Given the description of an element on the screen output the (x, y) to click on. 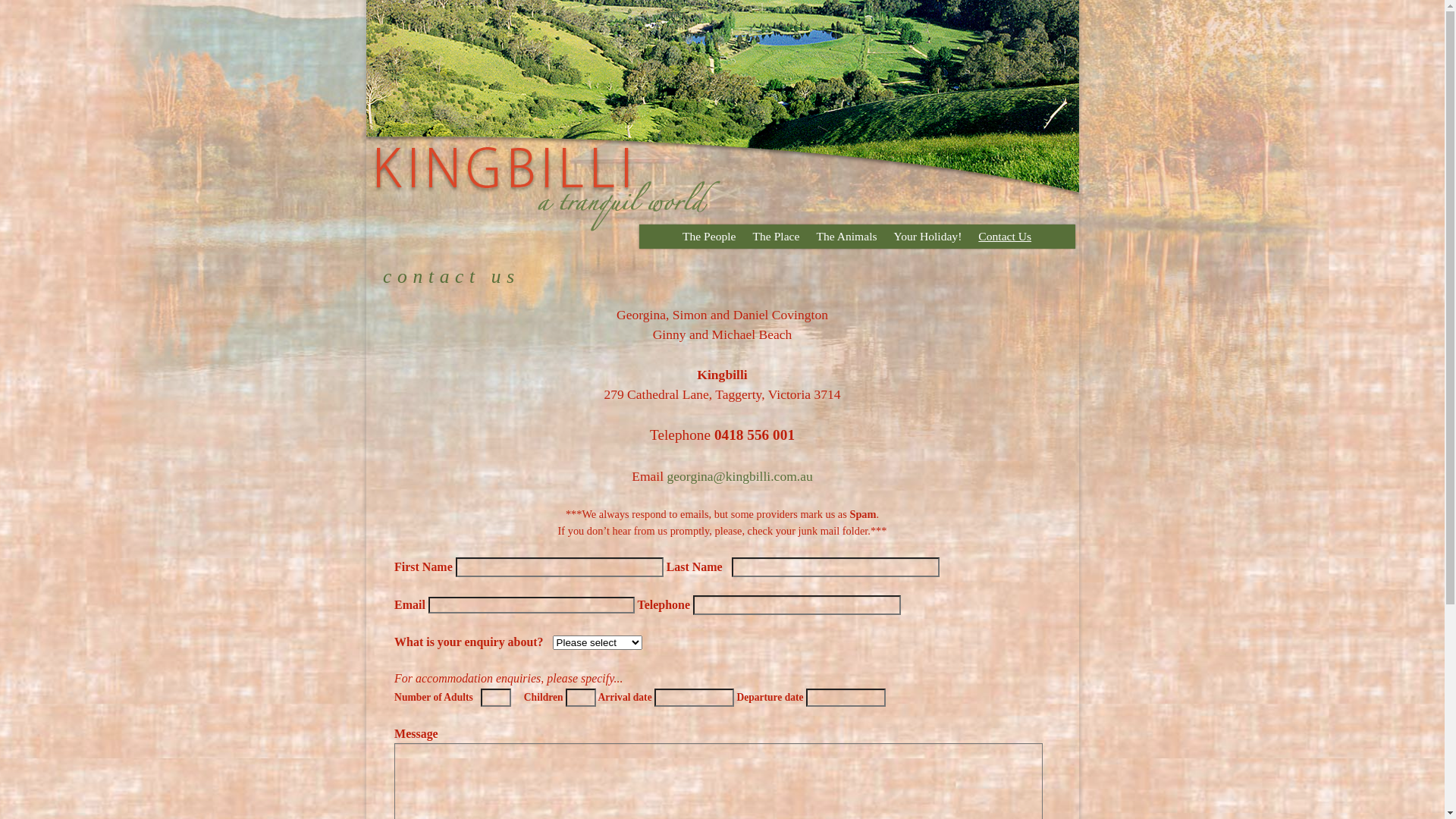
Contact Us Element type: text (1004, 236)
Your Holiday! Element type: text (927, 236)
The People Element type: text (709, 236)
The Animals Element type: text (845, 236)
georgina@kingbilli.com.au Element type: text (739, 475)
The Place Element type: text (775, 236)
Skip to primary content Element type: text (702, 236)
Skip to secondary content Element type: text (708, 236)
Kingbilli Element type: hover (721, 116)
